Given the description of an element on the screen output the (x, y) to click on. 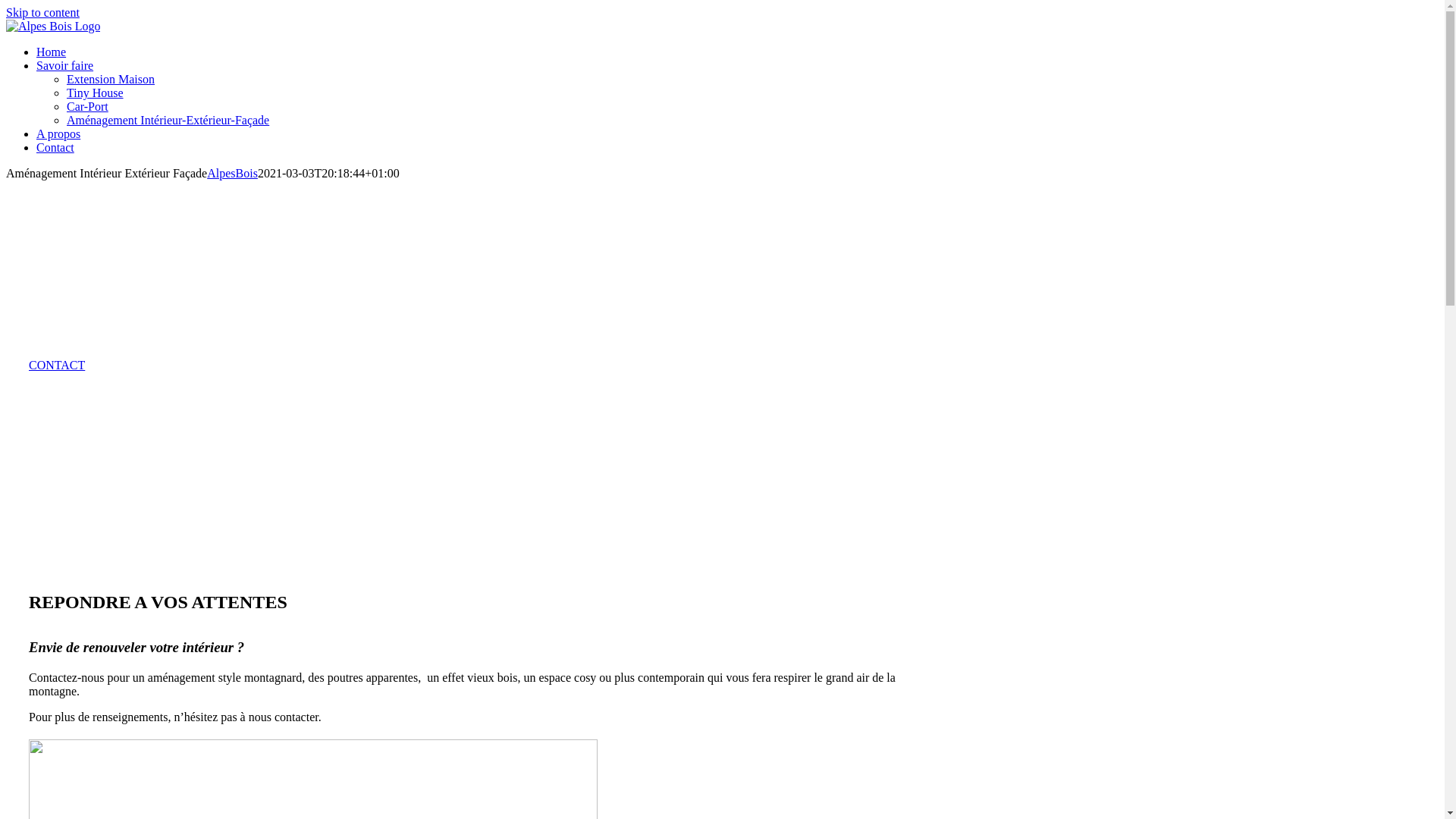
Tiny House Element type: text (94, 92)
Extension Maison Element type: text (110, 78)
CONTACT Element type: text (56, 364)
Car-Port Element type: text (87, 106)
Savoir faire Element type: text (64, 65)
Home Element type: text (50, 51)
Skip to content Element type: text (42, 12)
Contact Element type: text (55, 147)
AlpesBois Element type: text (232, 172)
A propos Element type: text (58, 133)
